Given the description of an element on the screen output the (x, y) to click on. 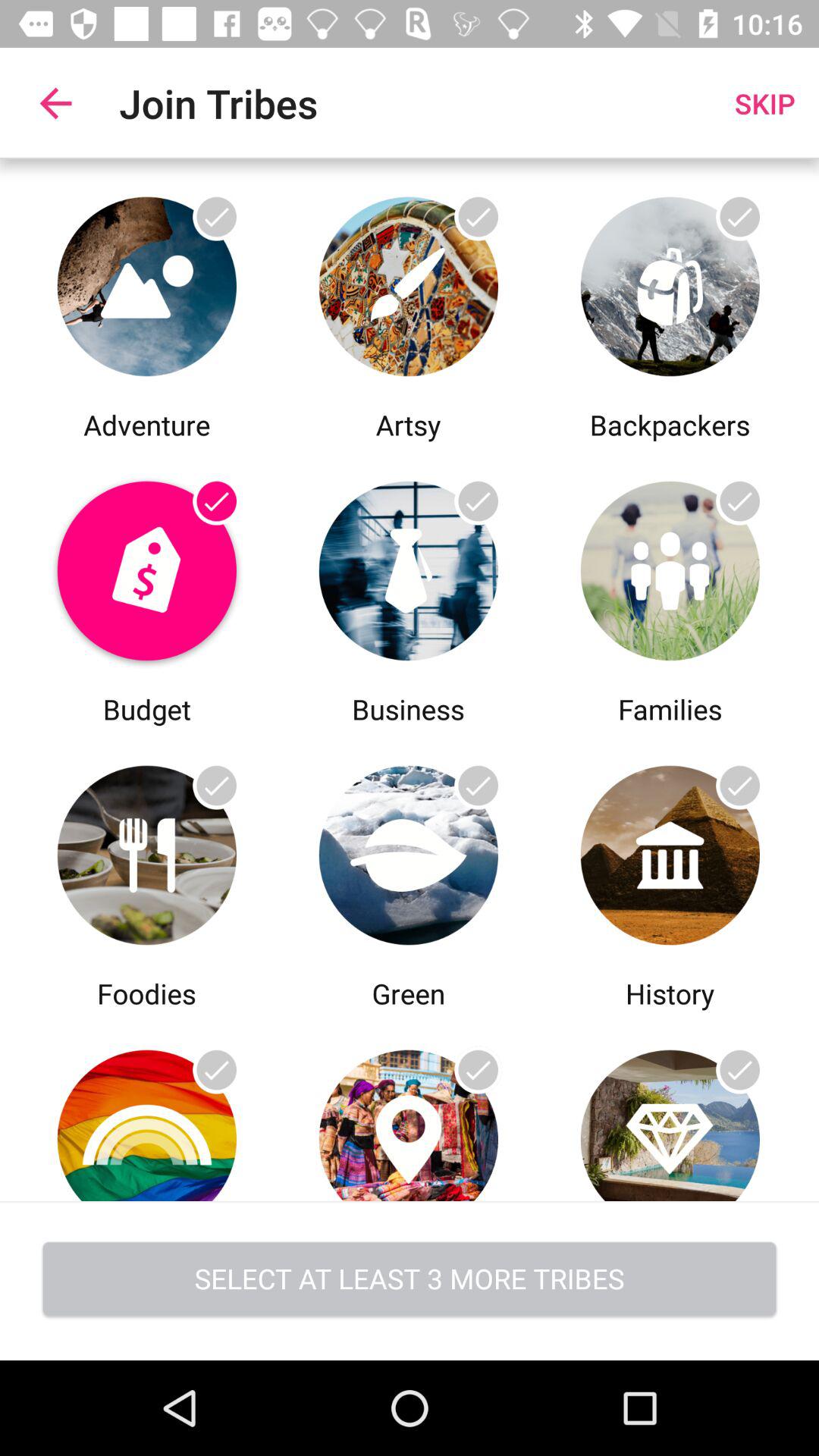
select app next to join tribes (55, 103)
